Given the description of an element on the screen output the (x, y) to click on. 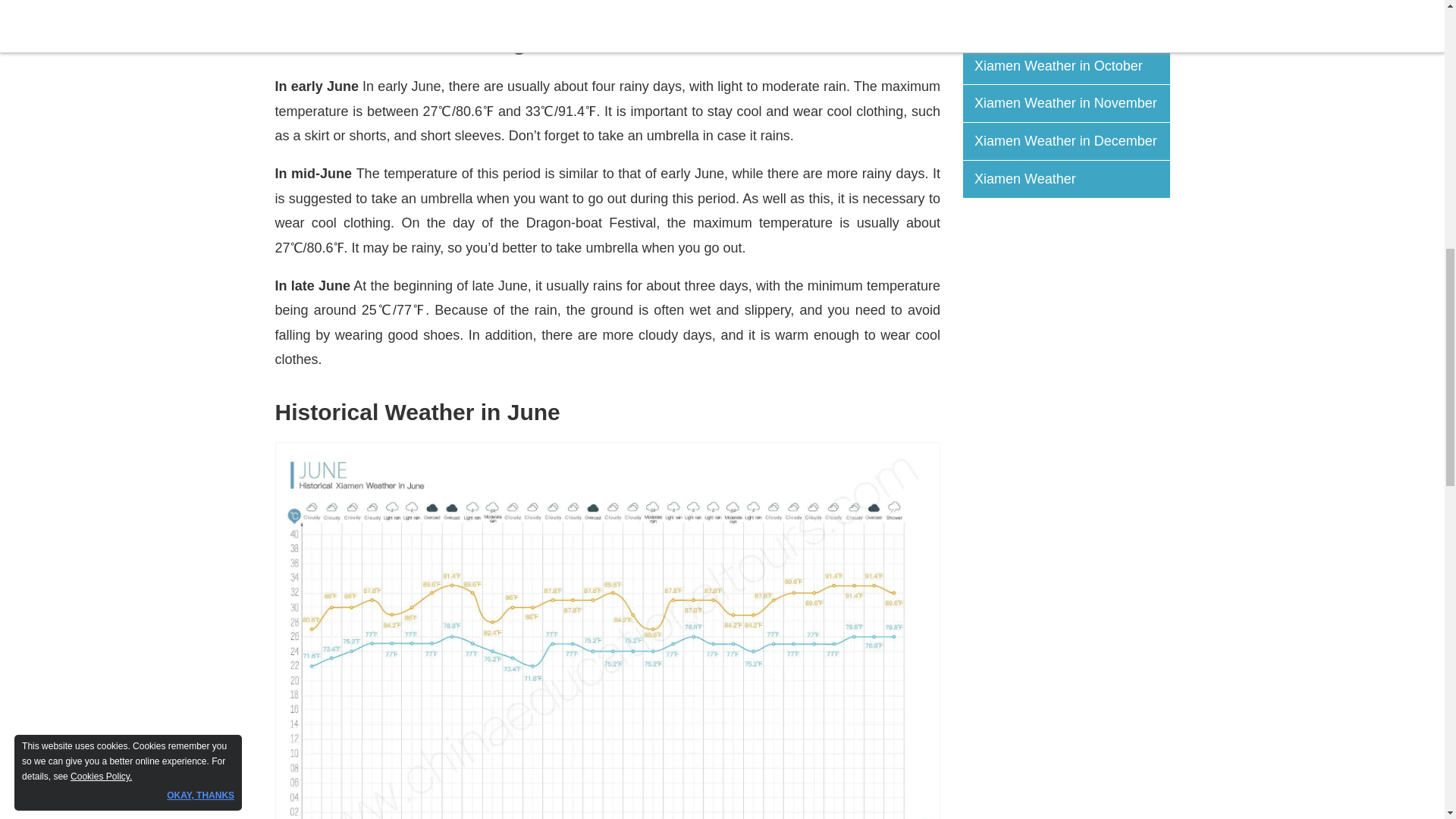
Xiamen Weather in October (1072, 65)
Xiamen Weather in November (1072, 103)
Xiamen Weather in September (1072, 28)
Xiamen Weather in December (1072, 141)
Xiamen Weather (1072, 179)
